Given the description of an element on the screen output the (x, y) to click on. 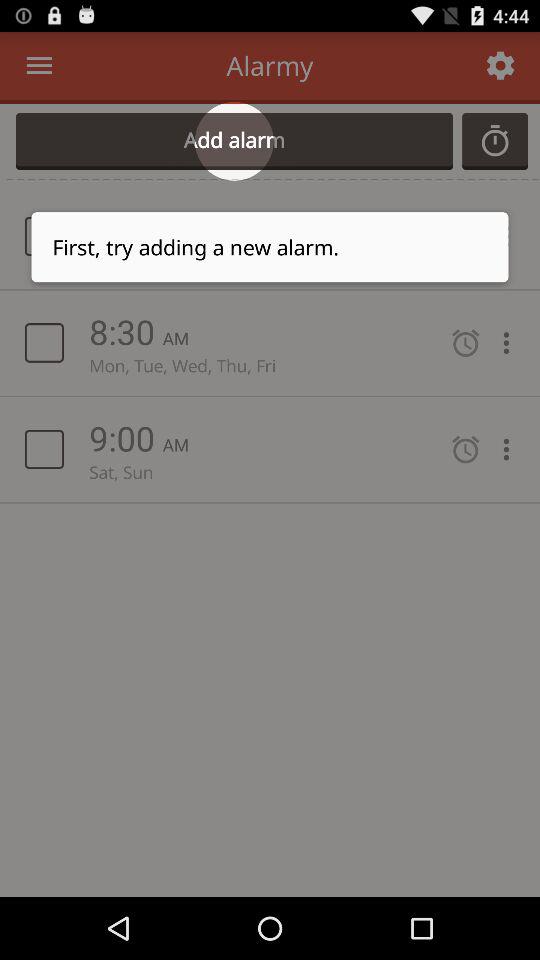
turn on item to the right of the add alarm (495, 141)
